Given the description of an element on the screen output the (x, y) to click on. 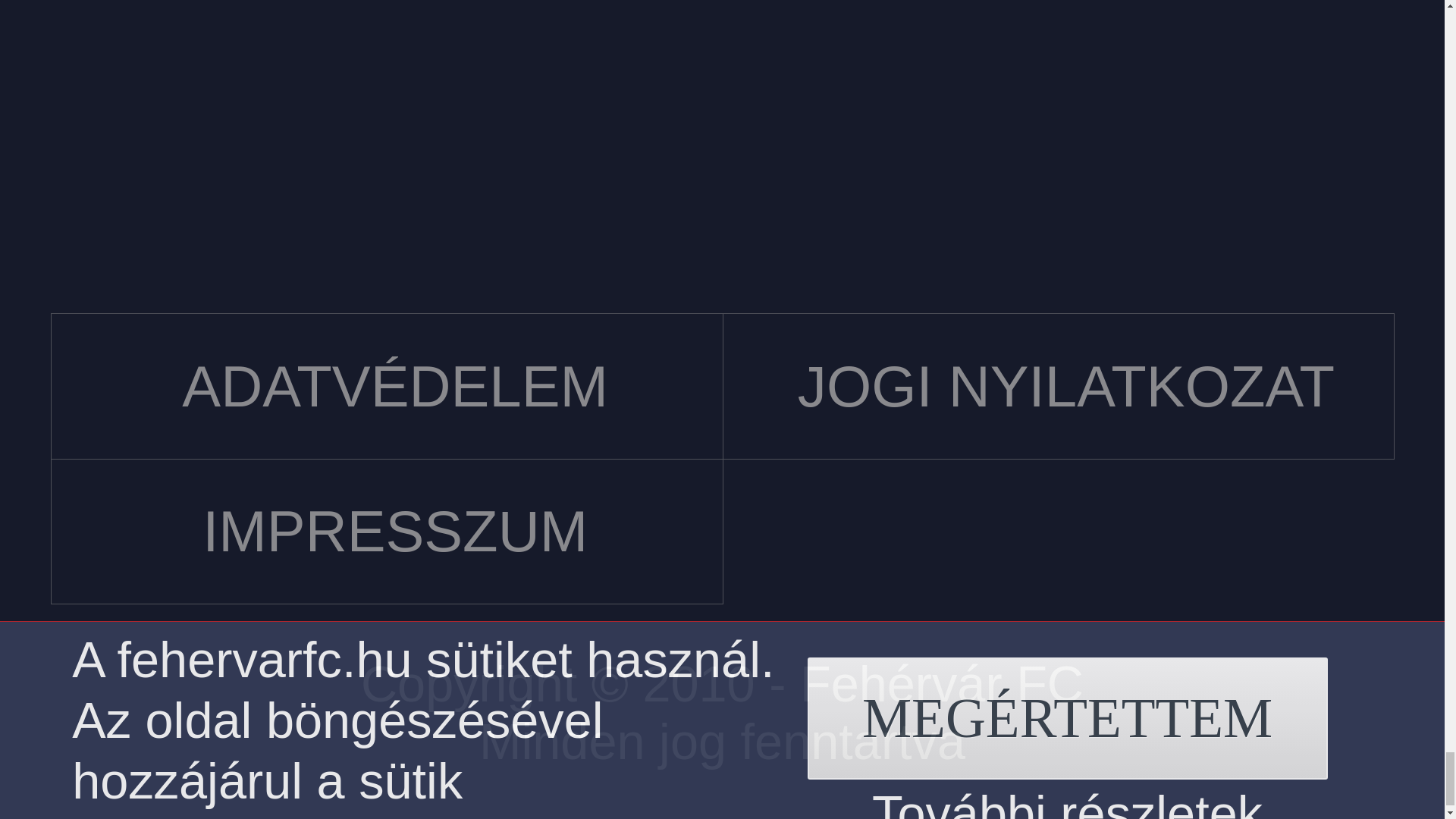
JOGI NYILATKOZAT (1058, 385)
IMPRESSZUM (386, 531)
